Given the description of an element on the screen output the (x, y) to click on. 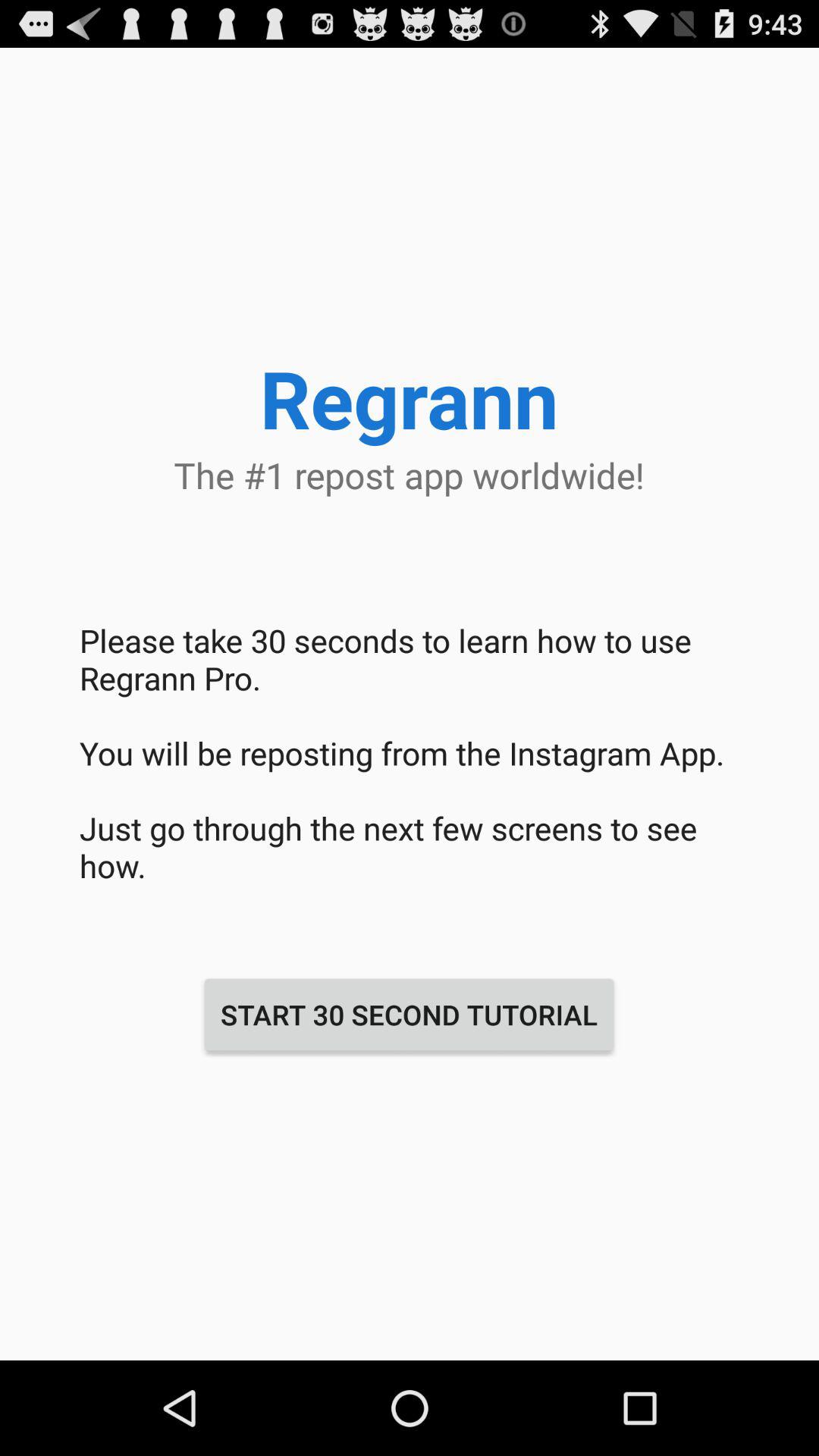
select the item below please take 30 icon (408, 1014)
